Given the description of an element on the screen output the (x, y) to click on. 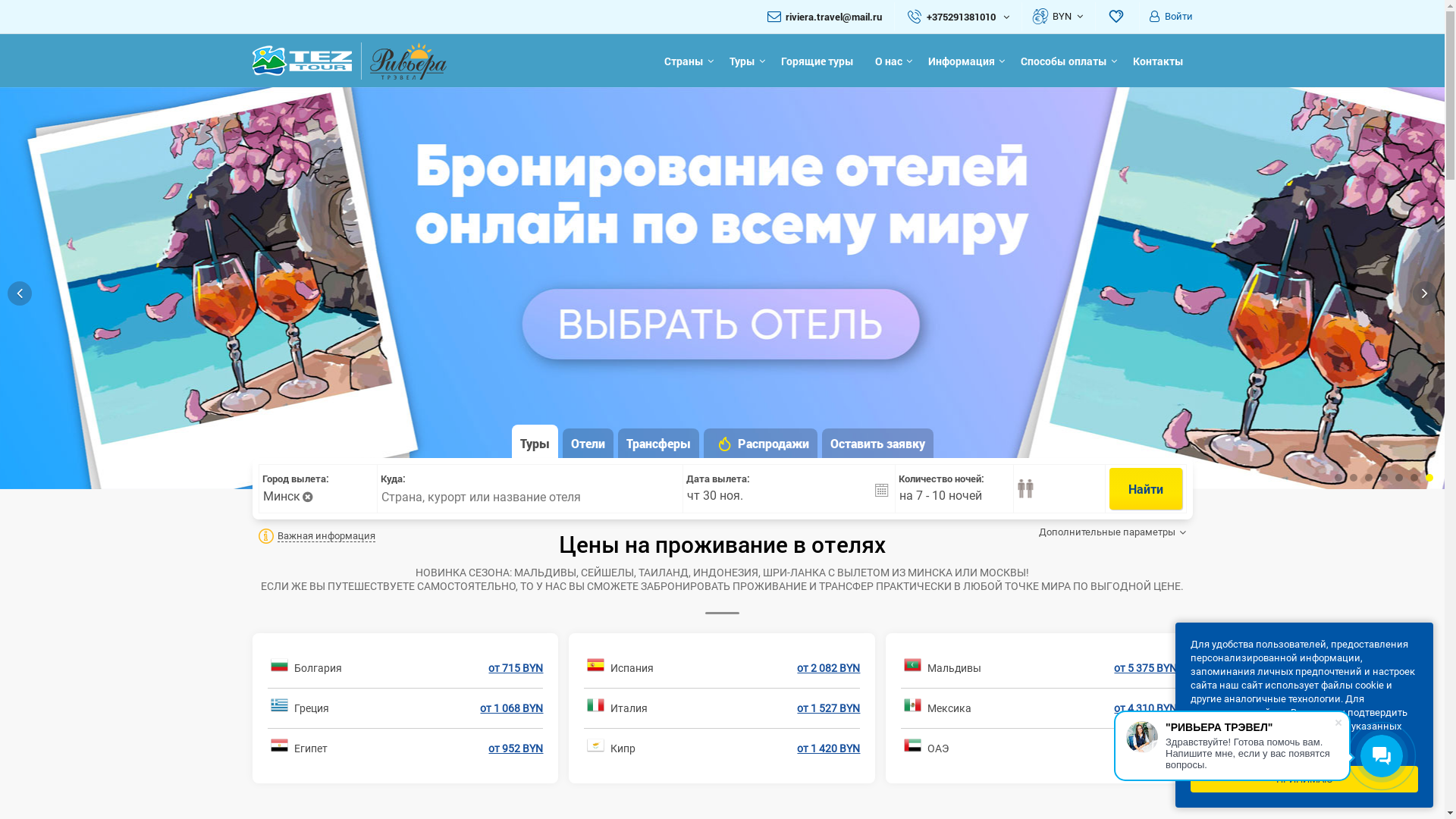
6 Element type: text (1414, 477)
3 Element type: text (1368, 477)
1 Element type: text (1338, 477)
Prev Element type: text (19, 293)
riviera.travel@mail.ru Element type: text (833, 16)
Next Element type: text (1424, 293)
7 Element type: text (1429, 477)
2 Element type: text (1353, 477)
5 Element type: text (1398, 477)
4 Element type: text (1383, 477)
